Given the description of an element on the screen output the (x, y) to click on. 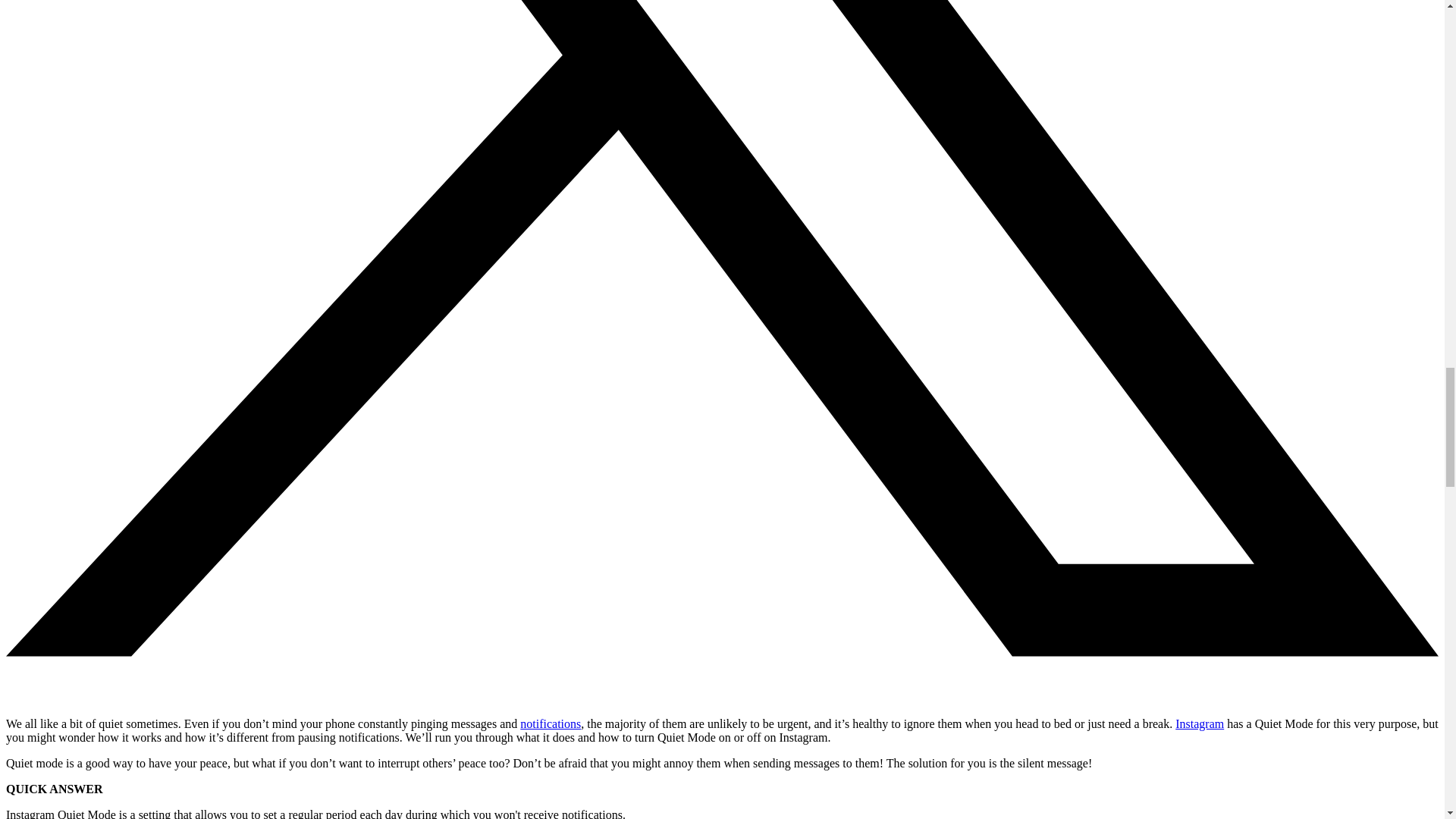
Instagram (1199, 723)
notifications (549, 723)
